Given the description of an element on the screen output the (x, y) to click on. 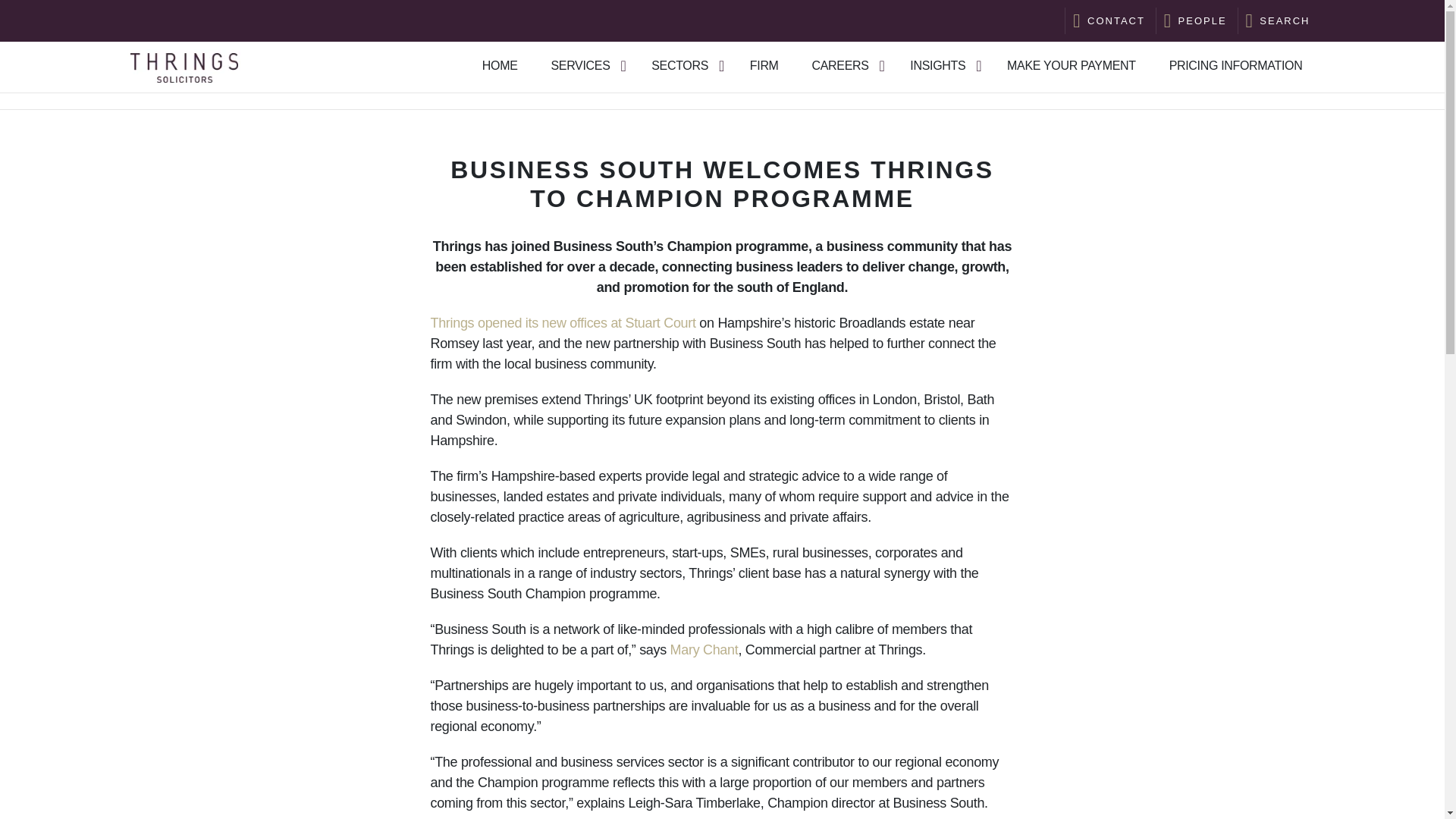
logo (184, 66)
